Given the description of an element on the screen output the (x, y) to click on. 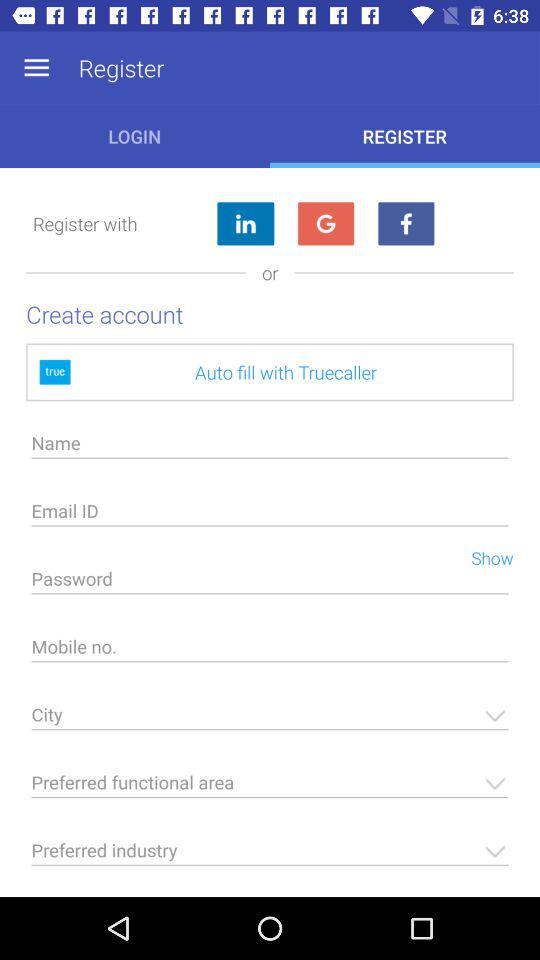
log in with linkedin (245, 224)
